Given the description of an element on the screen output the (x, y) to click on. 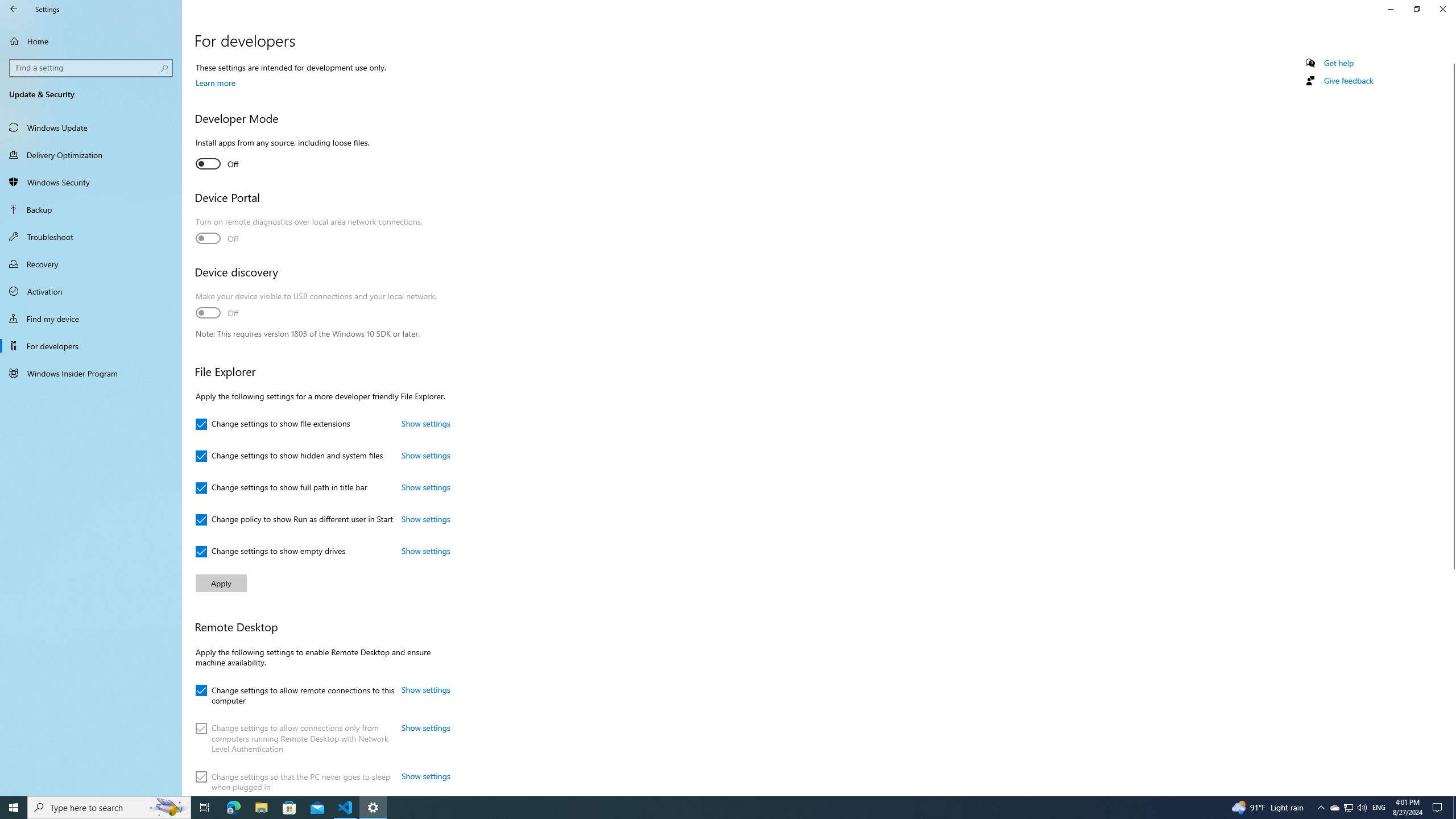
Vertical Large Increase (1451, 678)
Activation (91, 290)
